Given the description of an element on the screen output the (x, y) to click on. 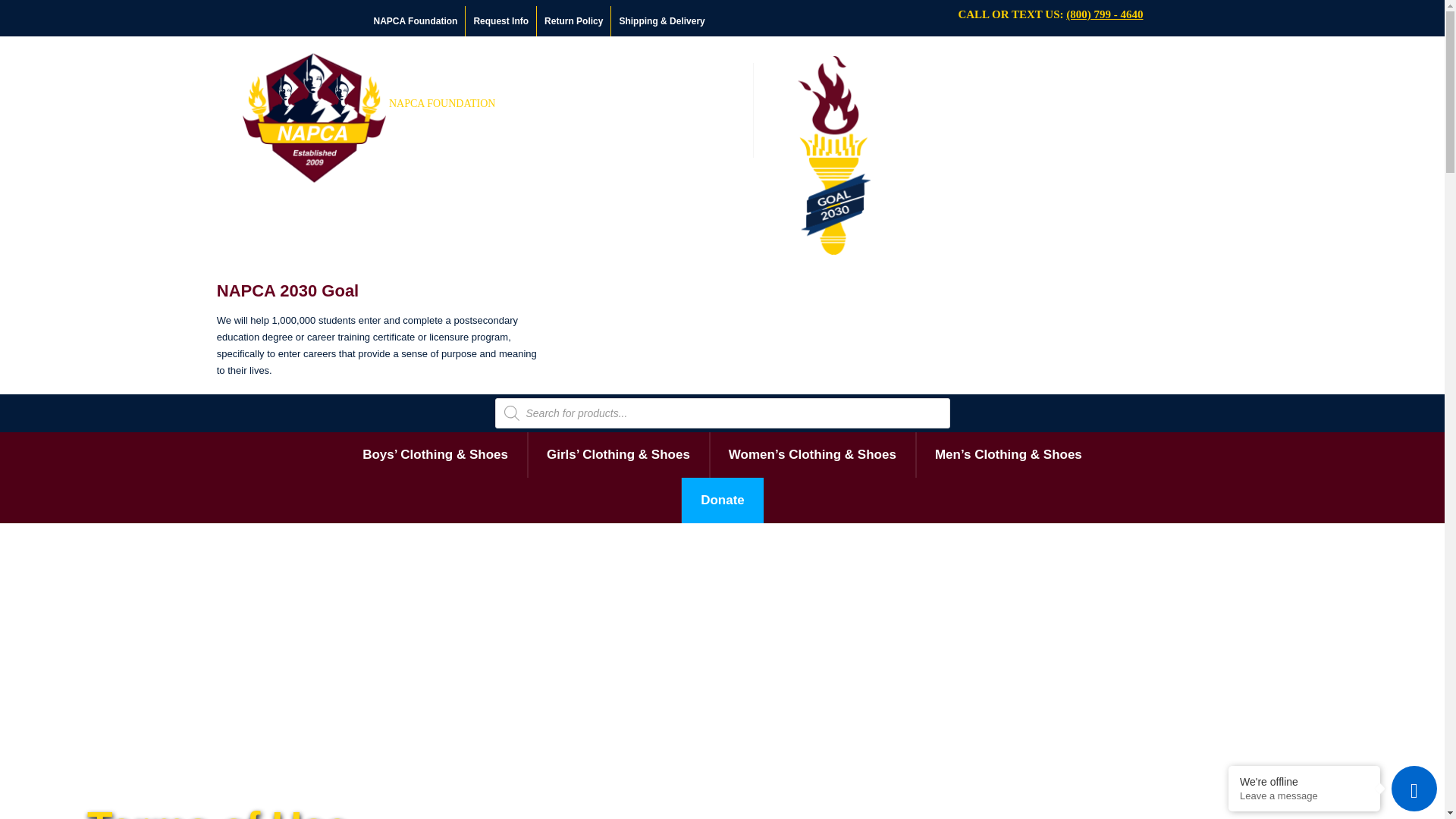
We're offline (1304, 781)
Leave a message (1304, 795)
Request Info (501, 20)
NAPCA Foundation (415, 20)
Donate (721, 500)
Return Policy (574, 20)
